Given the description of an element on the screen output the (x, y) to click on. 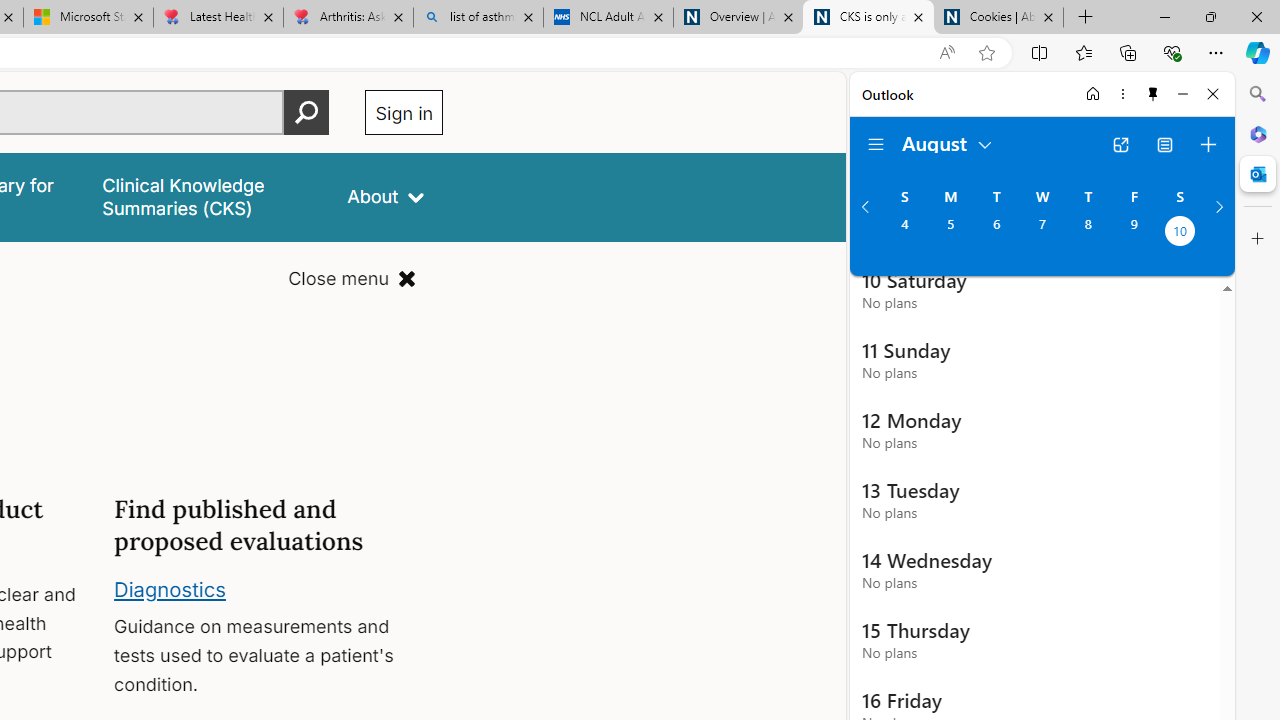
Saturday, August 10, 2024. Date selected.  (1180, 233)
CKS is only available in the UK | NICE (868, 17)
Diagnostics (169, 588)
Monday, August 5, 2024.  (950, 233)
View Switcher. Current view is Agenda view (1165, 144)
Create event (1208, 144)
